Given the description of an element on the screen output the (x, y) to click on. 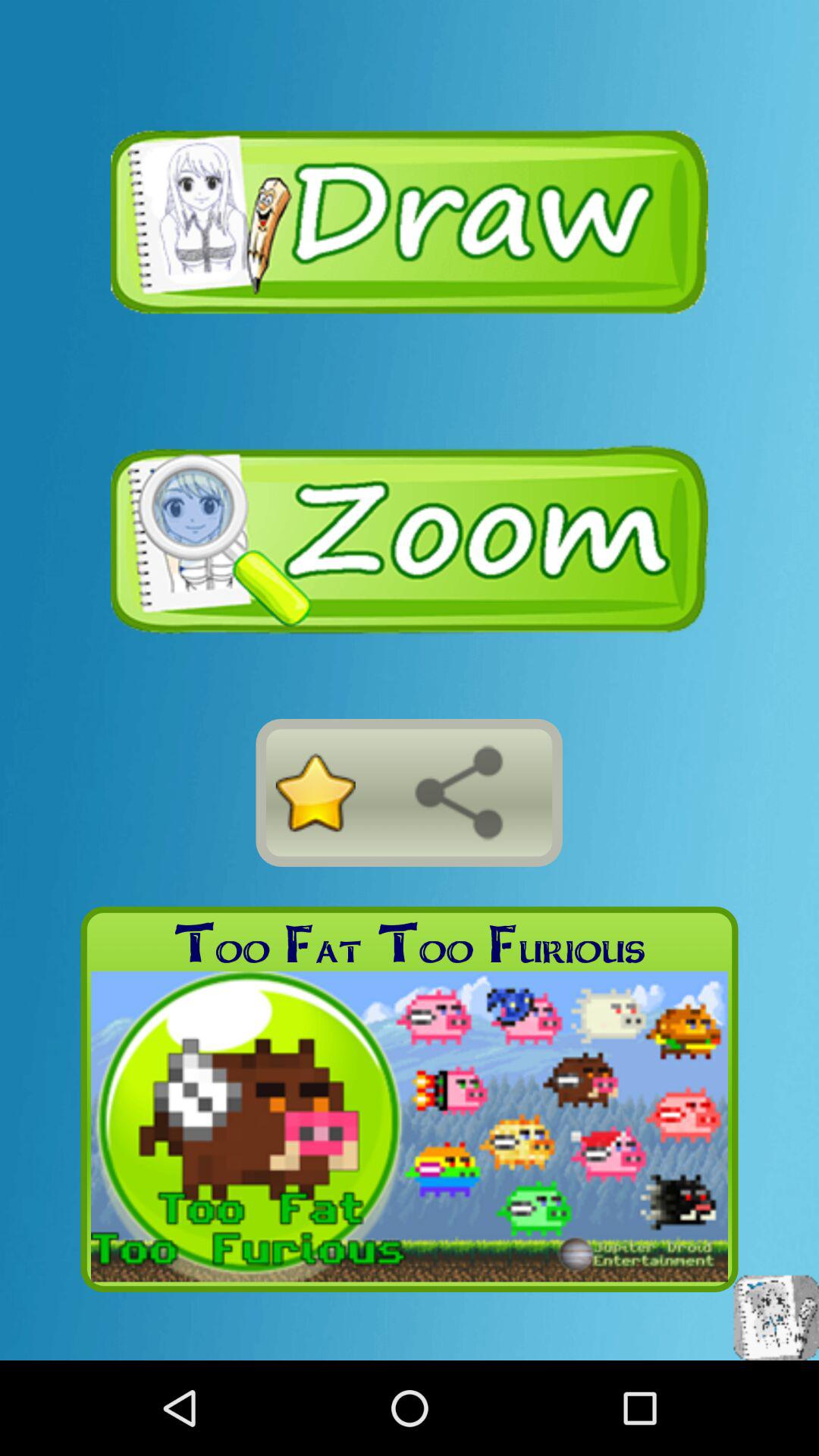
zoom (409, 539)
